Given the description of an element on the screen output the (x, y) to click on. 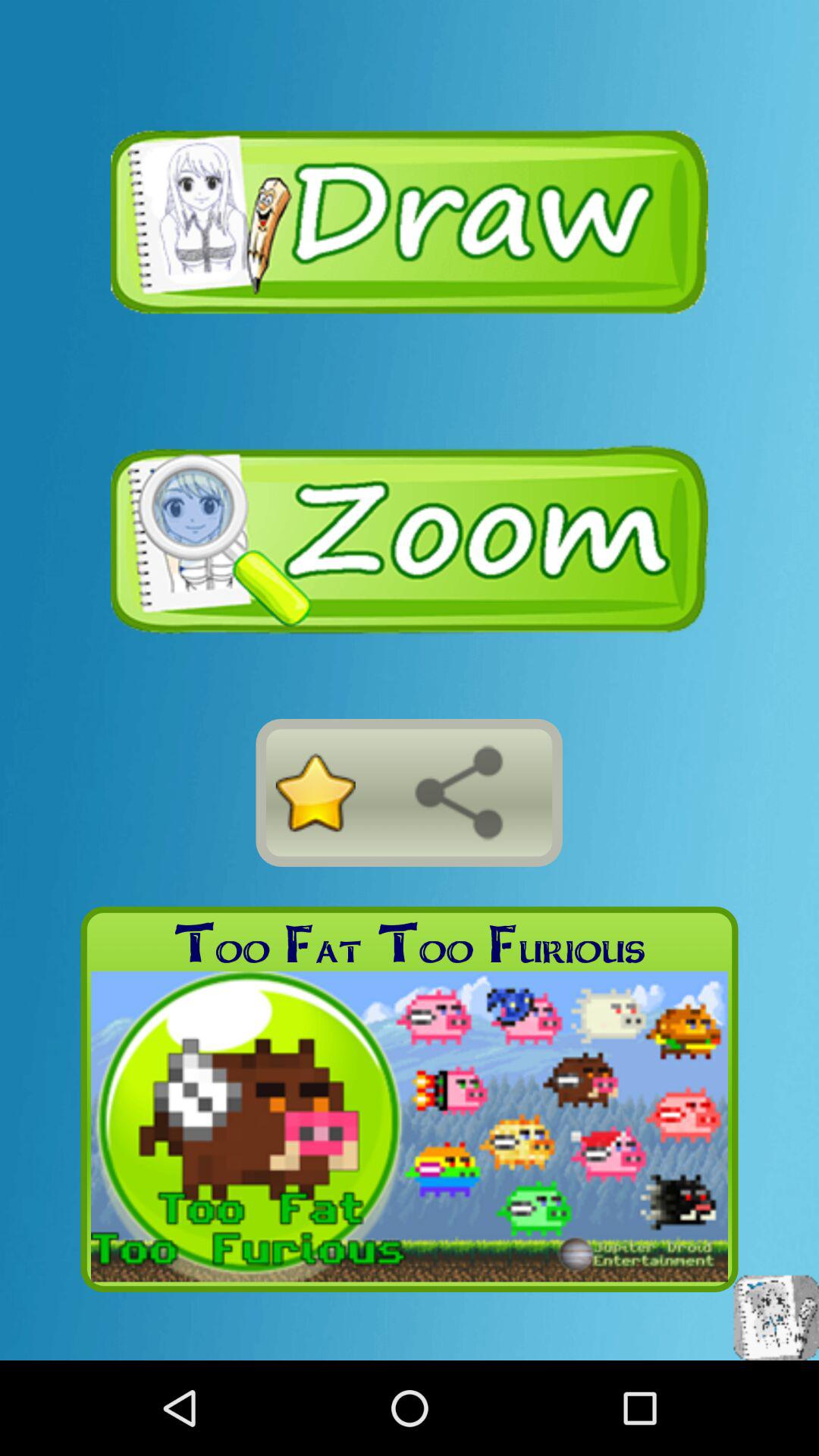
zoom (409, 539)
